Given the description of an element on the screen output the (x, y) to click on. 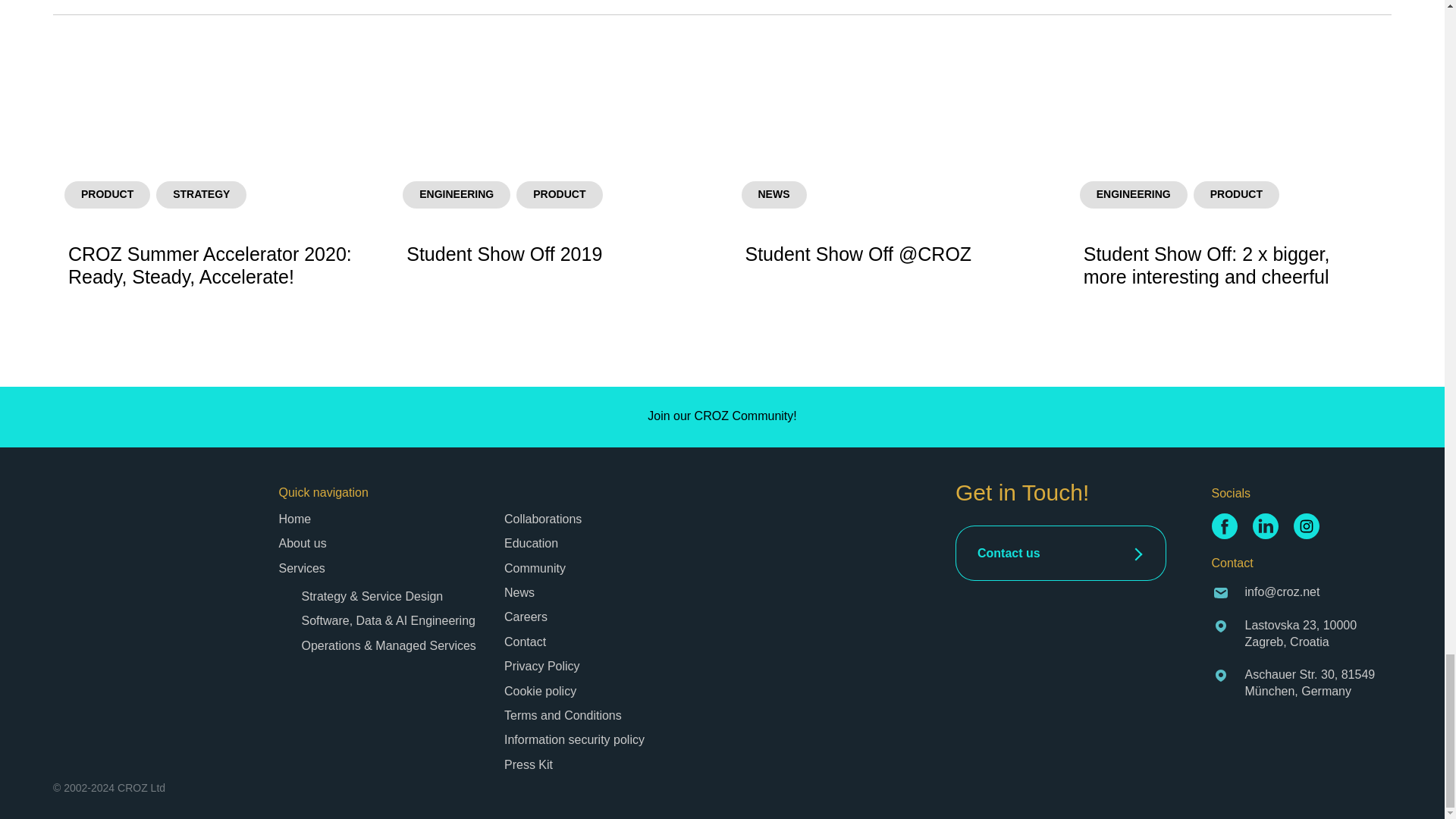
Services (301, 567)
Join our CROZ Community! (552, 181)
About us (721, 416)
Home (302, 543)
